Given the description of an element on the screen output the (x, y) to click on. 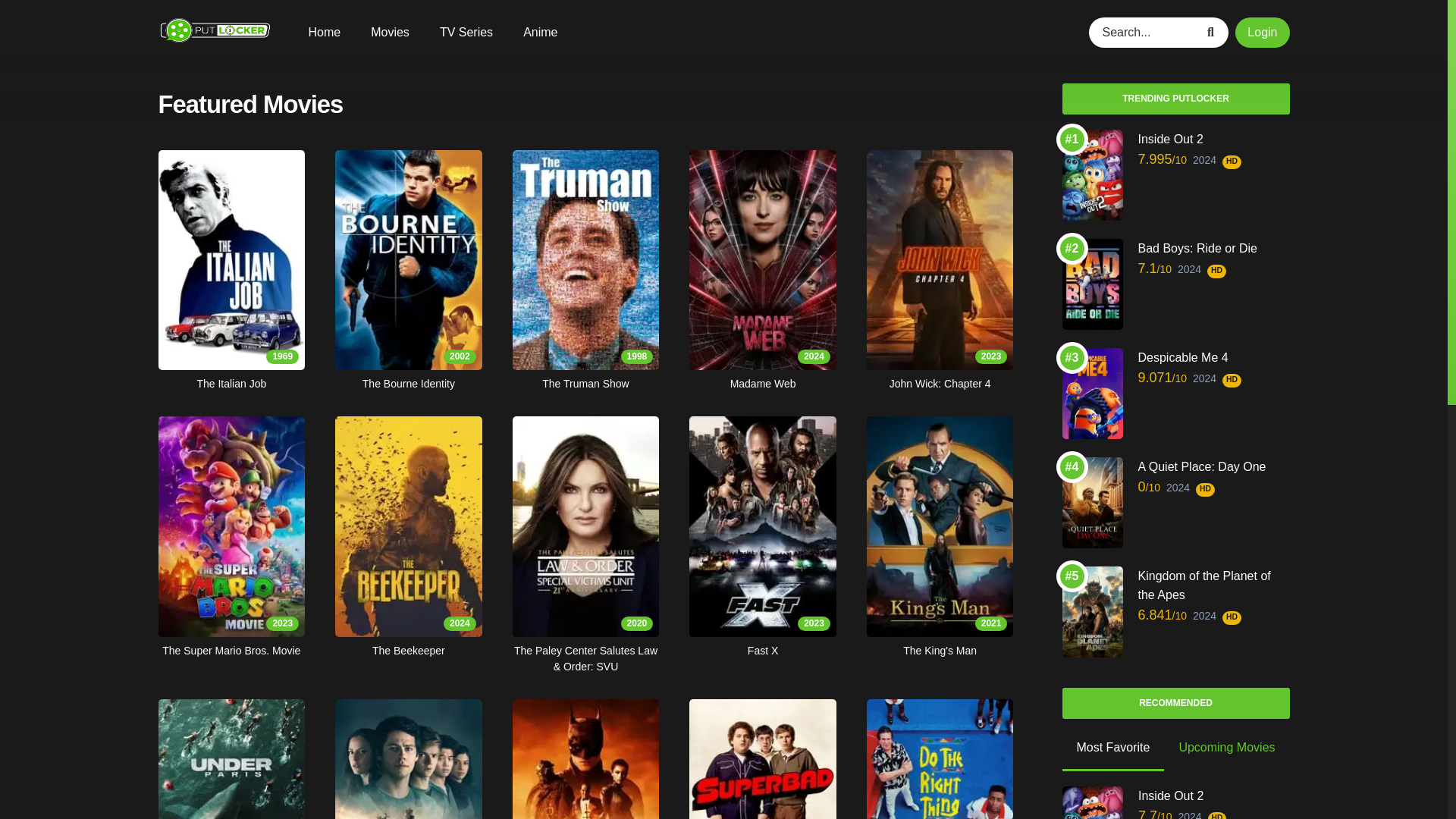
Home (585, 759)
Search (407, 759)
Login (407, 270)
TV Series (230, 537)
